Given the description of an element on the screen output the (x, y) to click on. 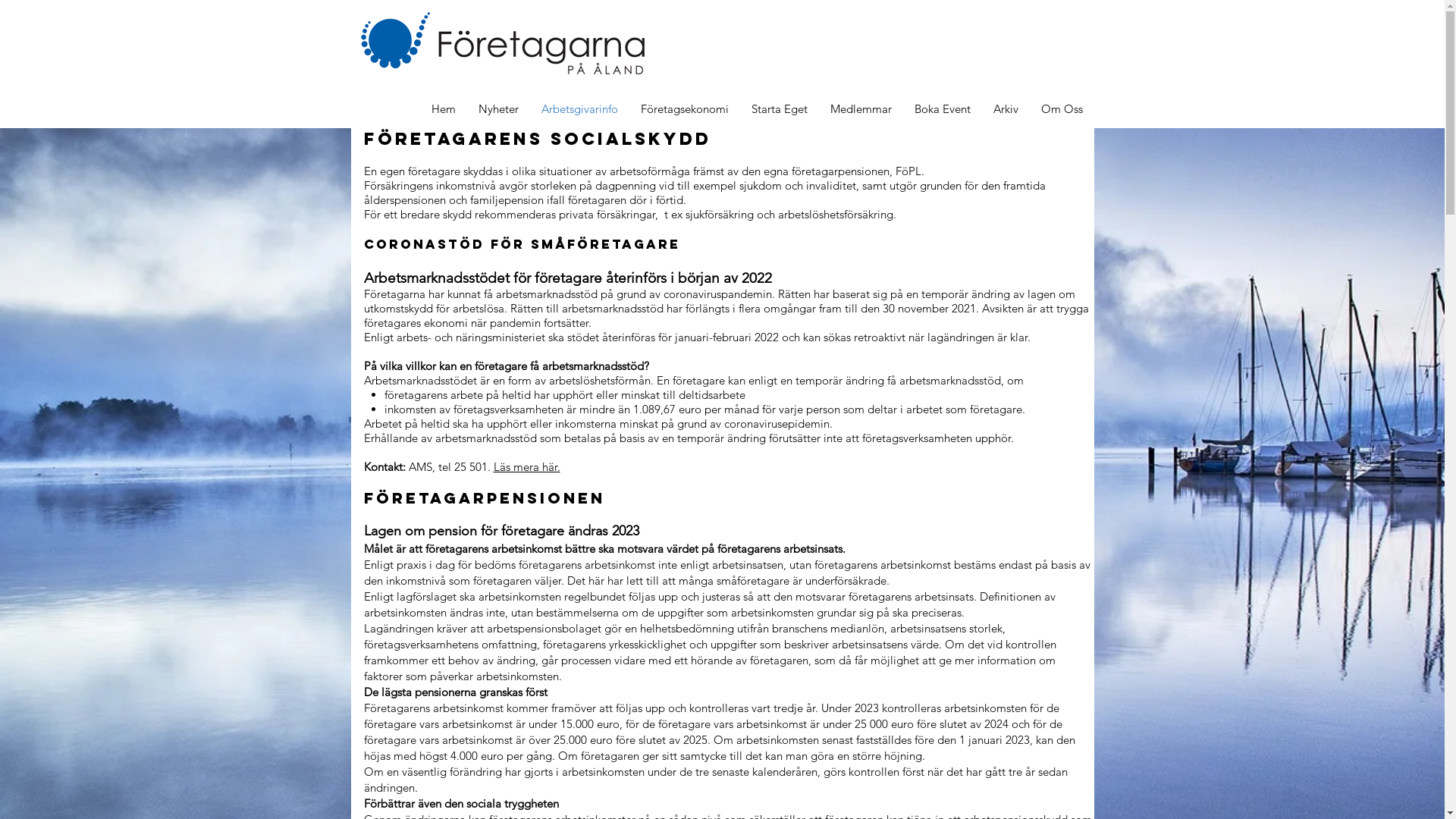
Medlemmar Element type: text (861, 109)
Nyheter Element type: text (498, 109)
Hem Element type: text (443, 109)
Boka Event Element type: text (941, 109)
Om Oss Element type: text (1061, 109)
Starta Eget Element type: text (779, 109)
Arbetsgivarinfo Element type: text (578, 109)
